Given the description of an element on the screen output the (x, y) to click on. 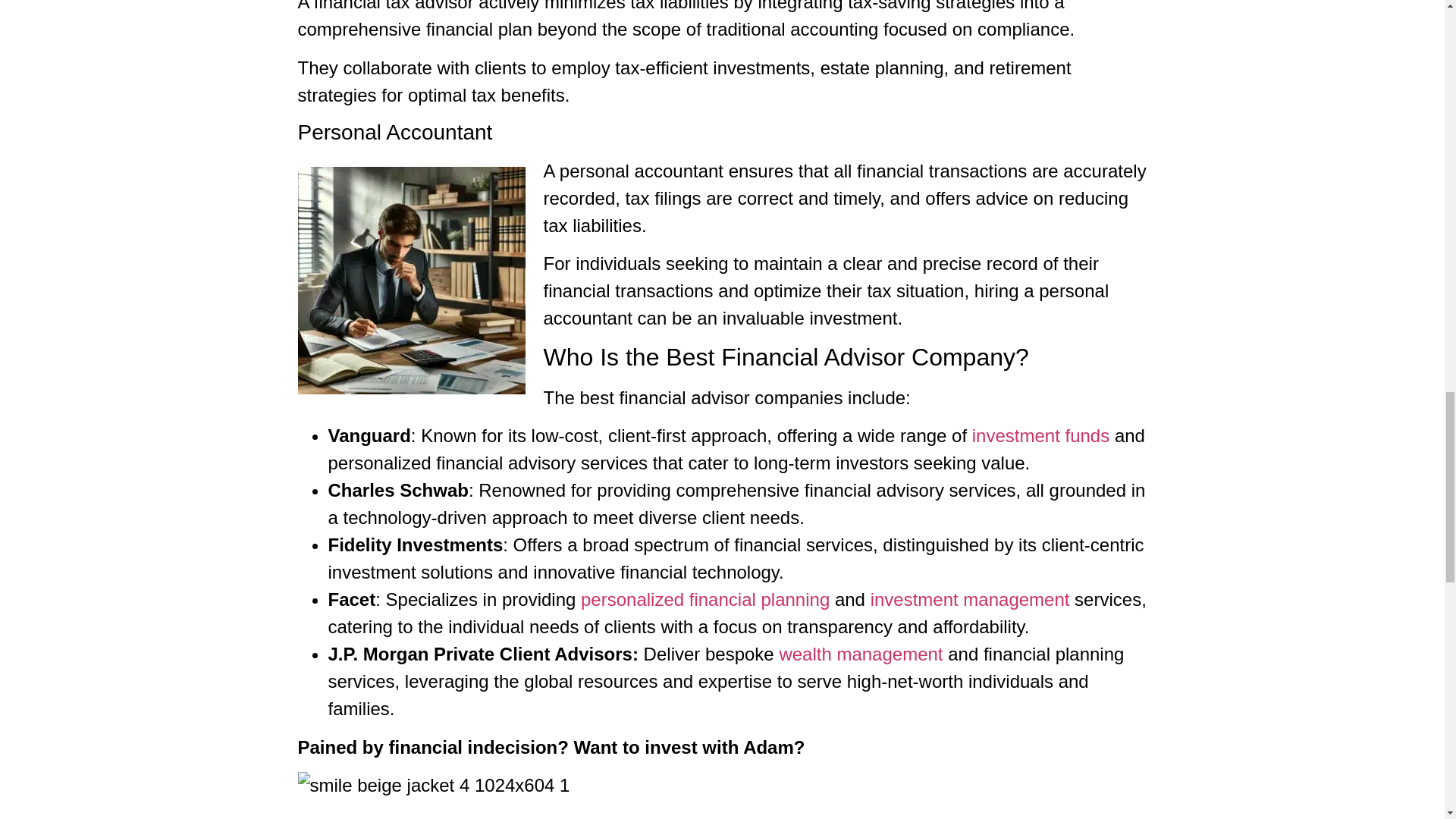
Financial Advisor vs Accountant 4 (433, 785)
wealth management (860, 653)
Financial Advisor vs Accountant 3 (410, 280)
